Given the description of an element on the screen output the (x, y) to click on. 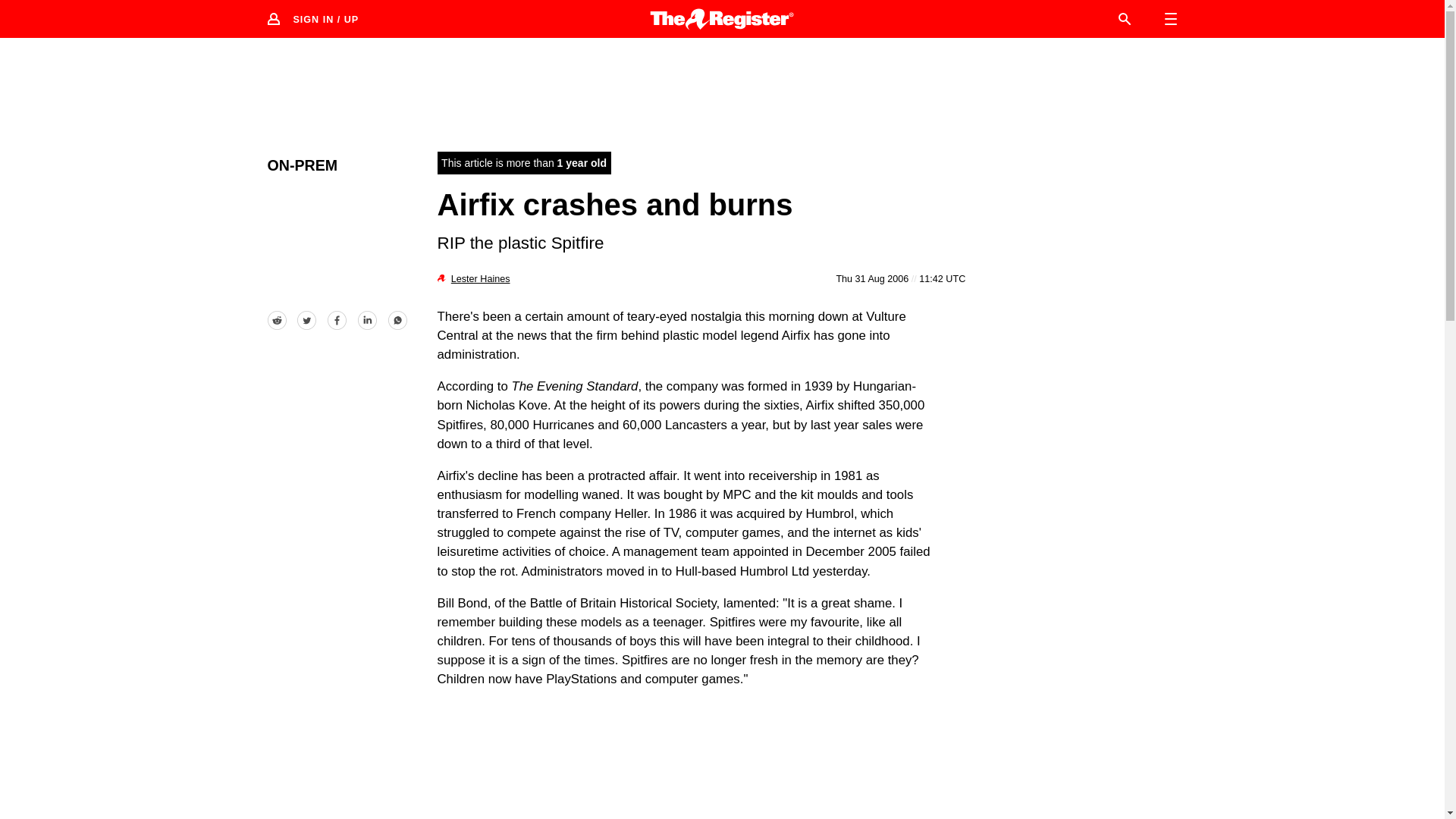
Read more by this author (481, 278)
